Given the description of an element on the screen output the (x, y) to click on. 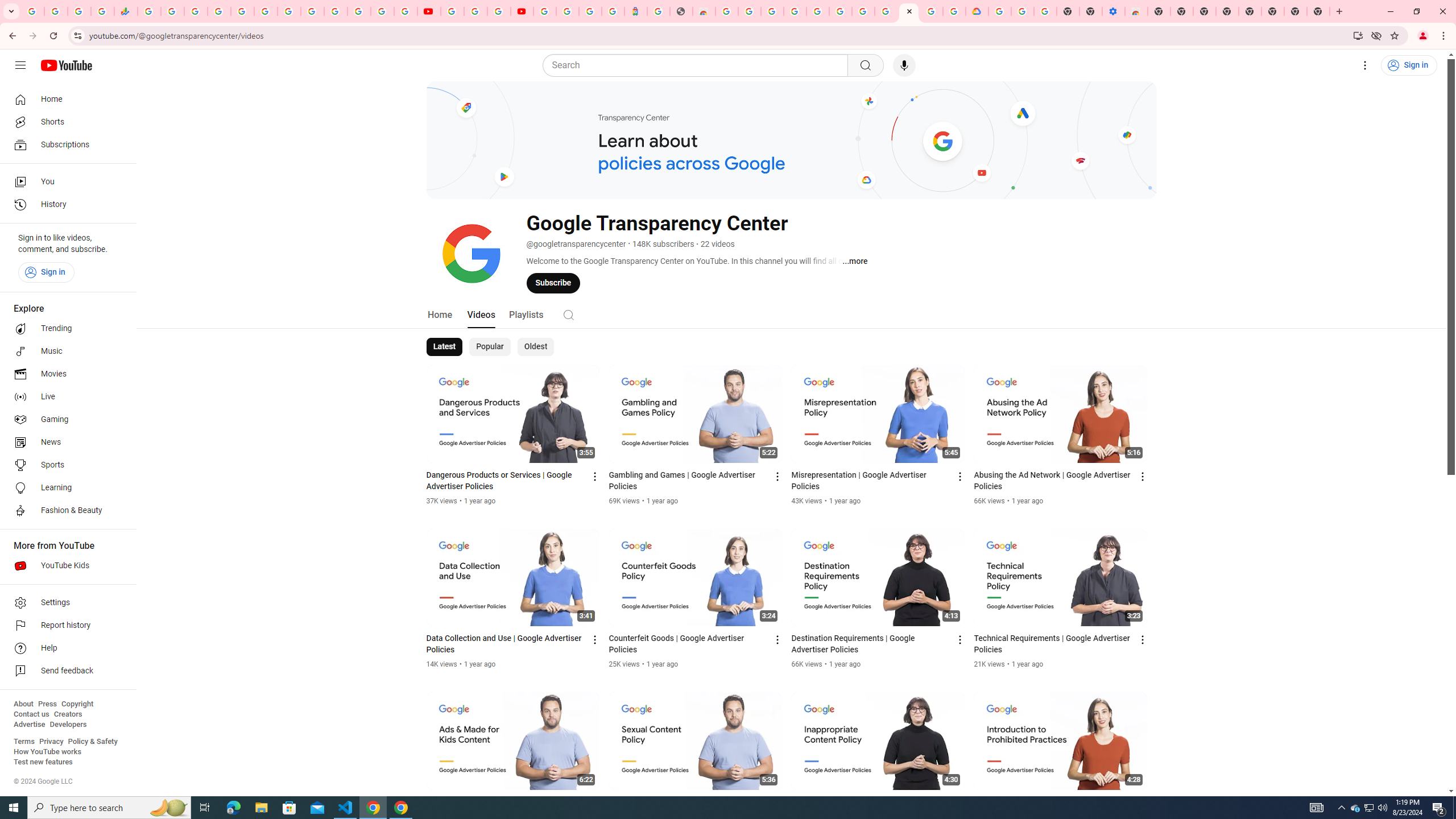
Third-party cookies blocked (1376, 35)
Gaming (64, 419)
Content Creator Programs & Opportunities - YouTube Creators (521, 11)
Advertise (29, 724)
Google Account Help (1022, 11)
YouTube (428, 11)
Privacy Checkup (405, 11)
Action menu (1142, 802)
Turn cookies on or off - Computer - Google Account Help (1045, 11)
